Given the description of an element on the screen output the (x, y) to click on. 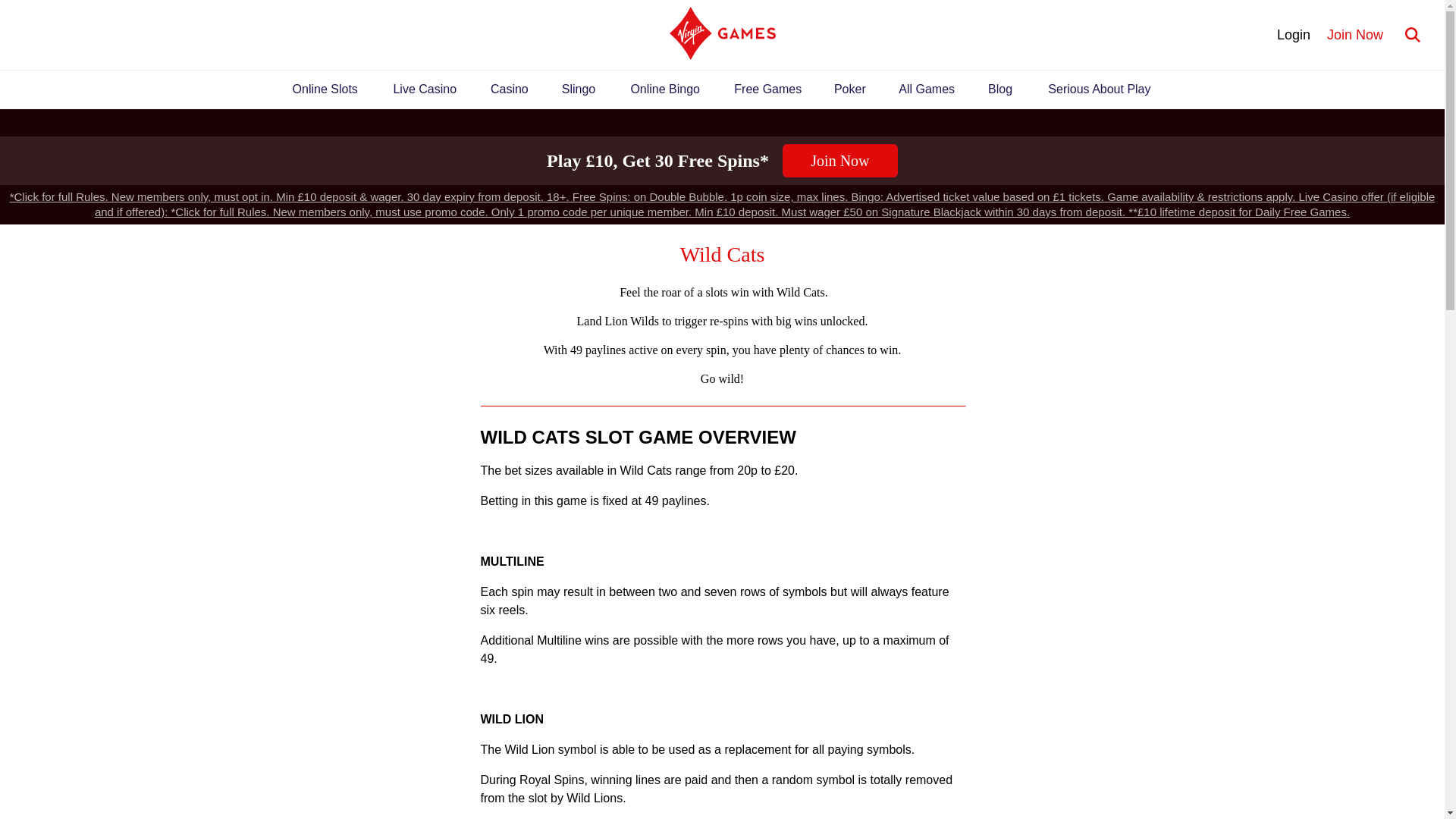
Join Now (1355, 34)
Live Casino (424, 89)
Blog (1000, 89)
Online Bingo (664, 89)
Login (1293, 34)
All Games (926, 89)
Virgin Games (721, 34)
Casino (509, 89)
Login (1293, 34)
Join Now (840, 160)
All Games (926, 89)
Serious About Play (1099, 89)
Slingo (578, 89)
Free Games (767, 89)
Slingo (578, 89)
